Given the description of an element on the screen output the (x, y) to click on. 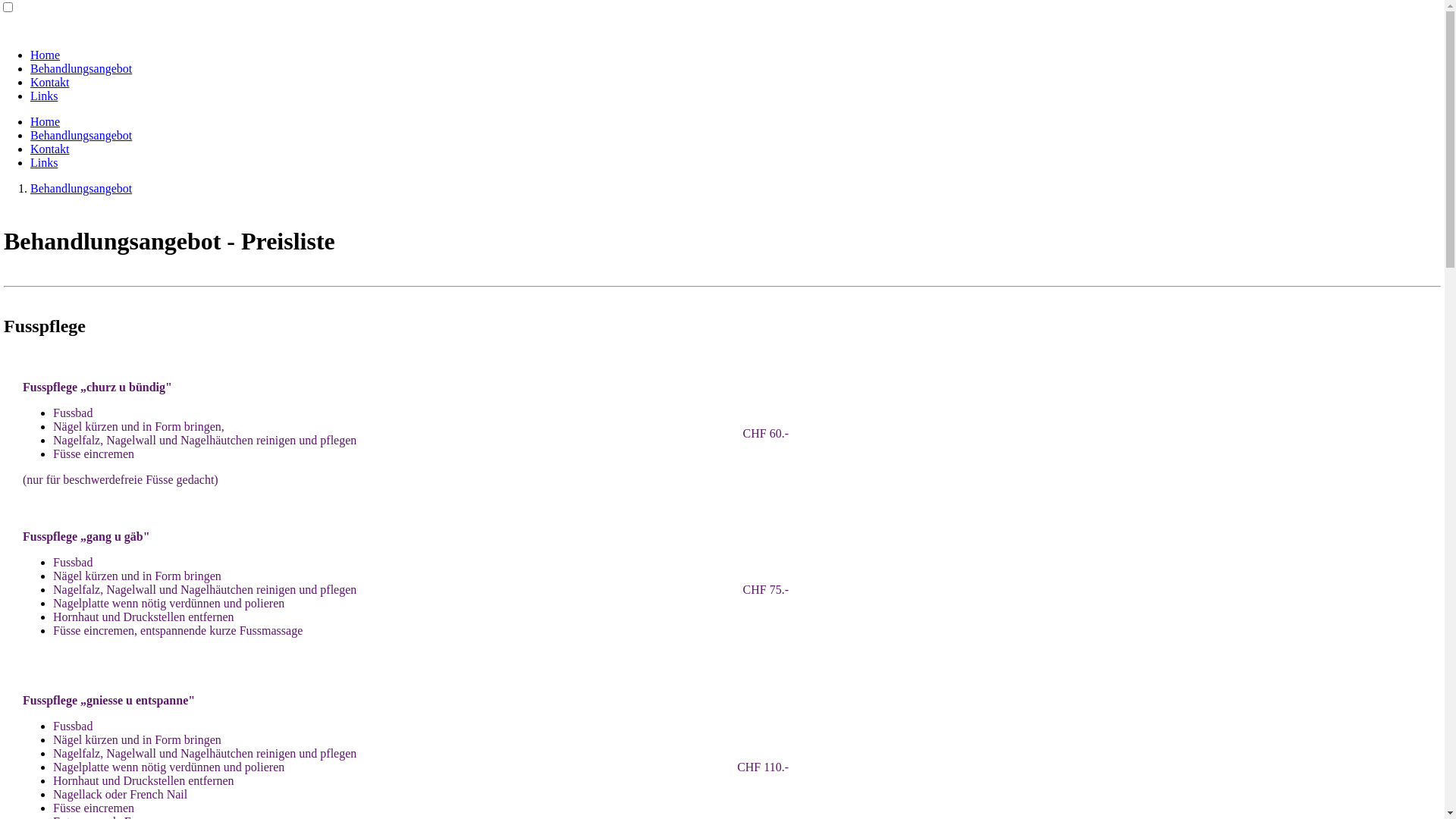
Behandlungsangebot Element type: text (80, 188)
Home Element type: text (44, 121)
Links Element type: text (43, 162)
Behandlungsangebot Element type: text (80, 134)
Kontakt Element type: text (49, 81)
Home Element type: text (44, 54)
Kontakt Element type: text (49, 148)
Links Element type: text (43, 95)
Behandlungsangebot Element type: text (80, 68)
